Given the description of an element on the screen output the (x, y) to click on. 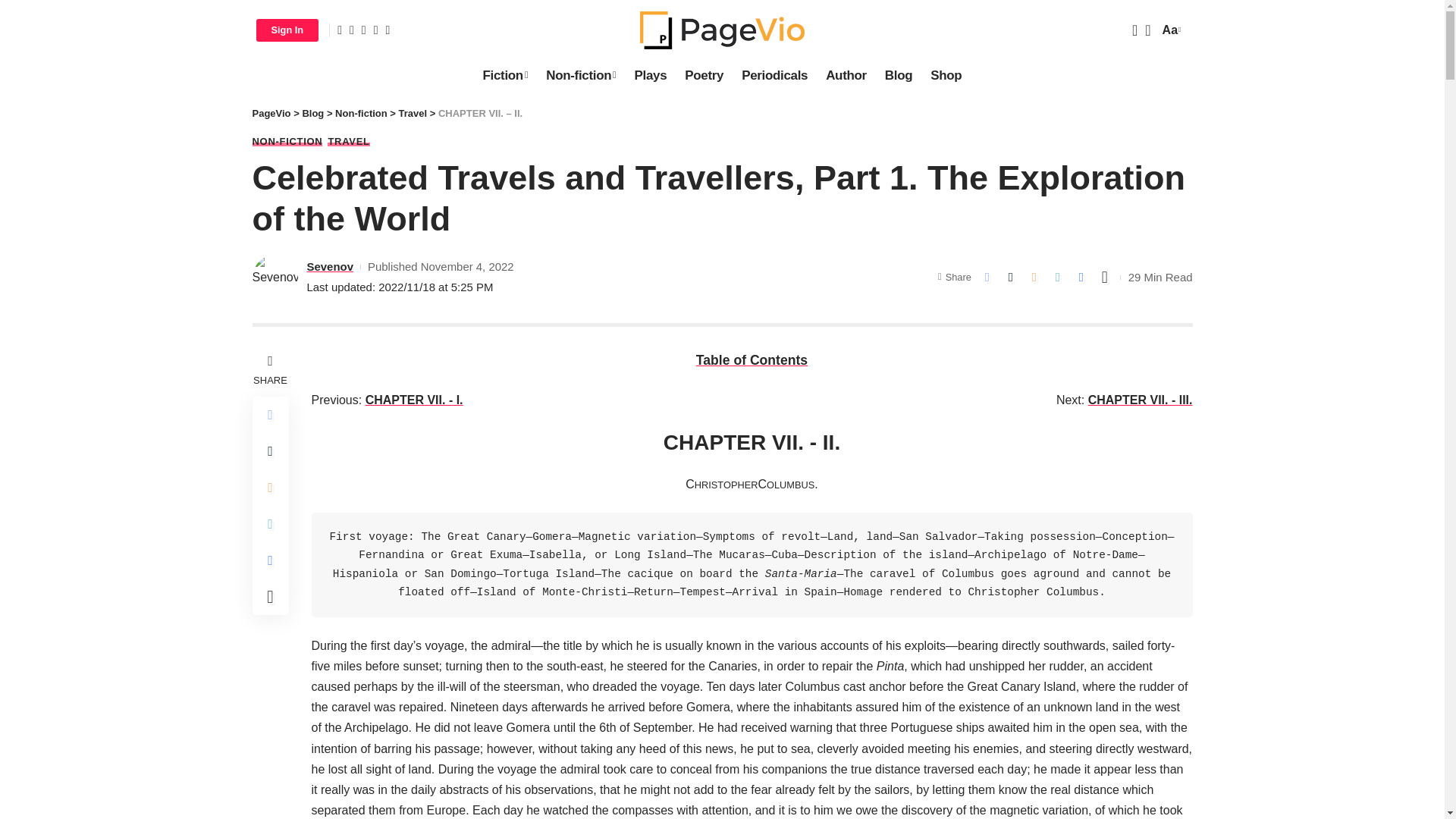
Periodicals (774, 75)
Poetry (703, 75)
Aa (1169, 29)
Go to the Non-fiction Category archives. (360, 112)
Sign In (287, 29)
Go to PageVio. (270, 112)
Blog (898, 75)
Non-fiction (580, 75)
PageVio (722, 30)
Shop (946, 75)
Author (846, 75)
Go to Blog. (312, 112)
Fiction (505, 75)
Plays (651, 75)
Go to the Travel Category archives. (413, 112)
